Given the description of an element on the screen output the (x, y) to click on. 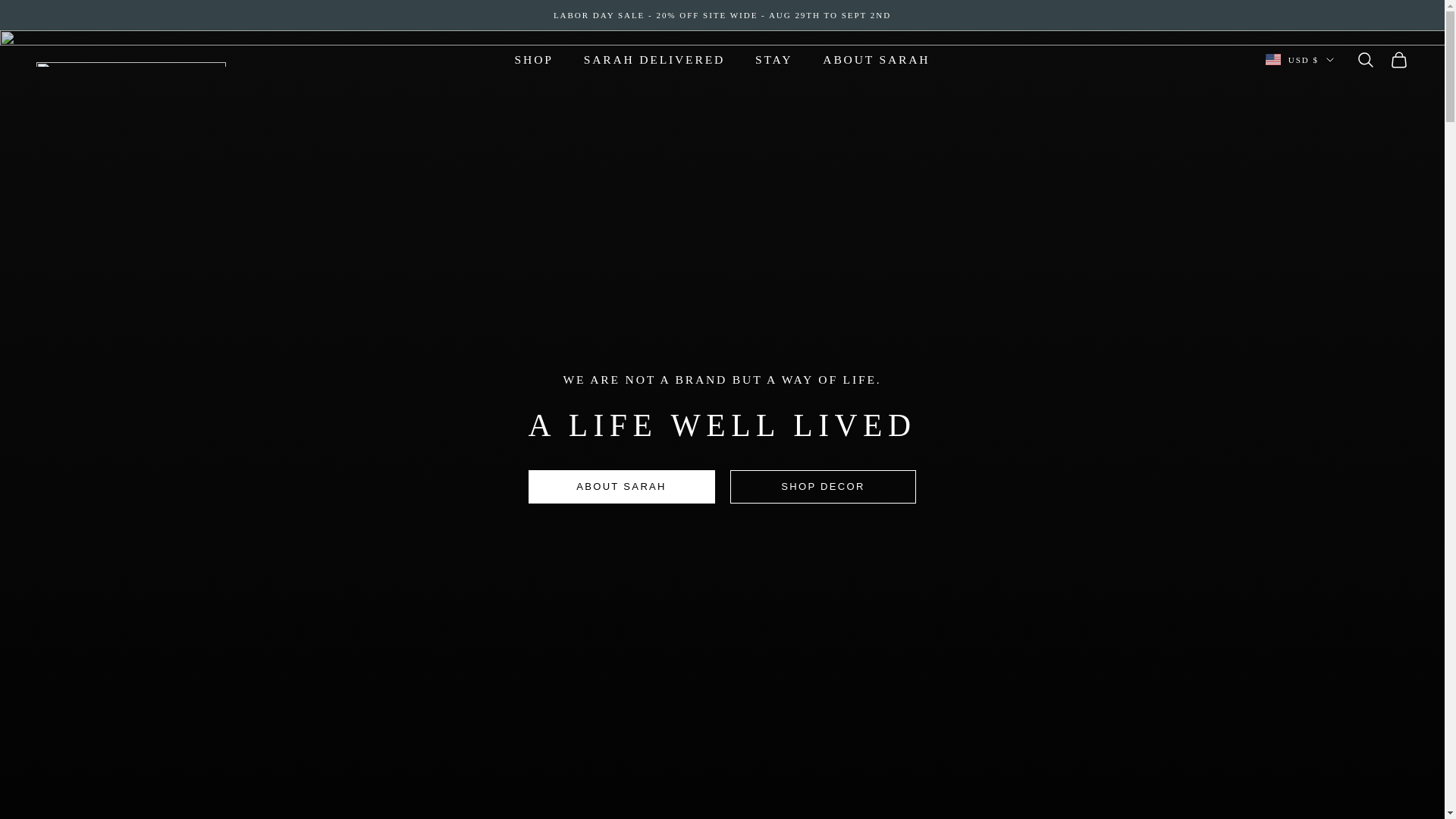
STAY (773, 59)
Open search (1365, 59)
Sarah Baeumler Shop (130, 60)
ABOUT SARAH (876, 59)
Open cart (1398, 59)
SARAH DELIVERED (654, 59)
